Given the description of an element on the screen output the (x, y) to click on. 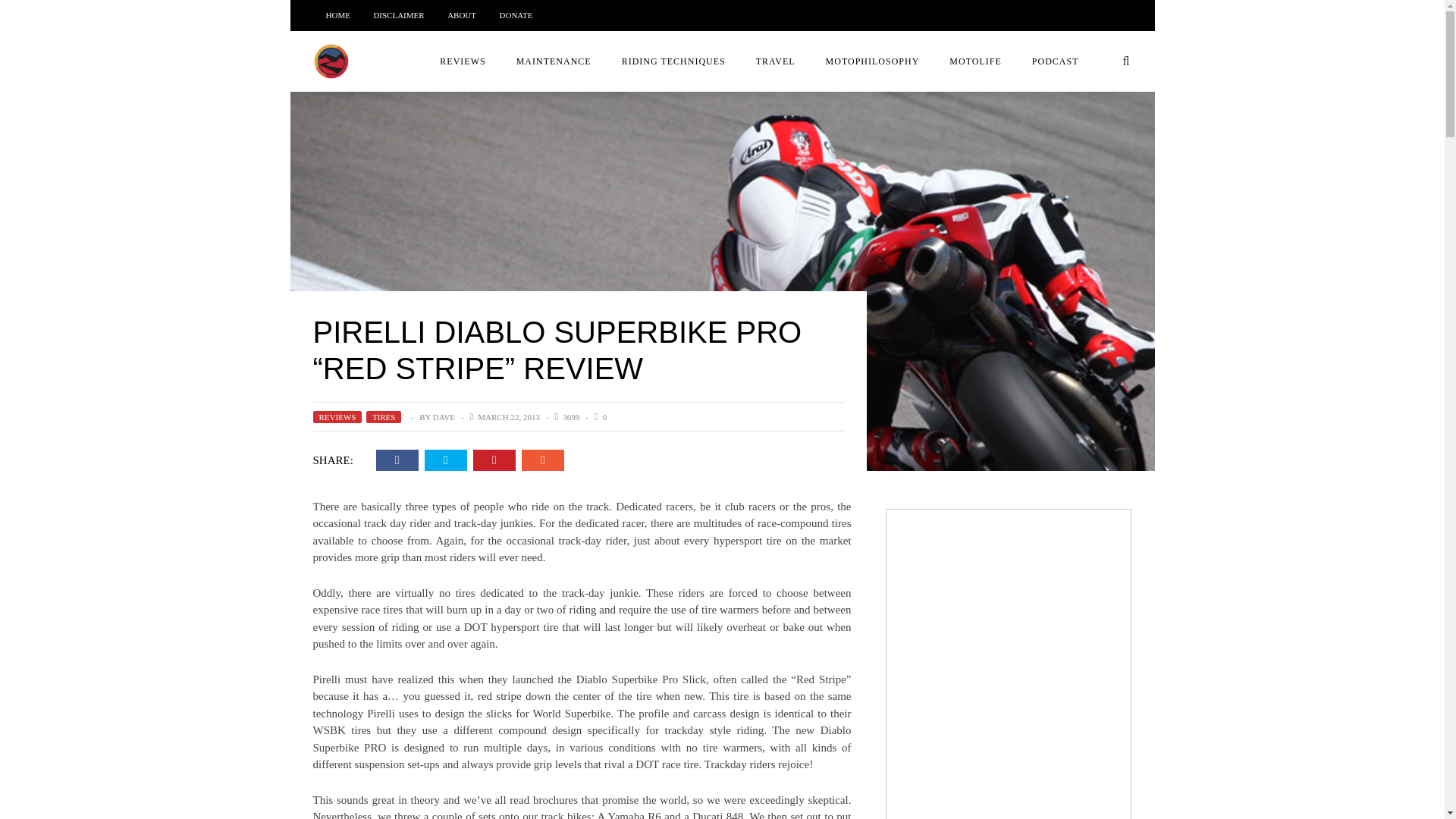
REVIEWS (462, 61)
DISCLAIMER (397, 14)
HOME (338, 14)
DONATE (515, 14)
ABOUT (461, 14)
